Given the description of an element on the screen output the (x, y) to click on. 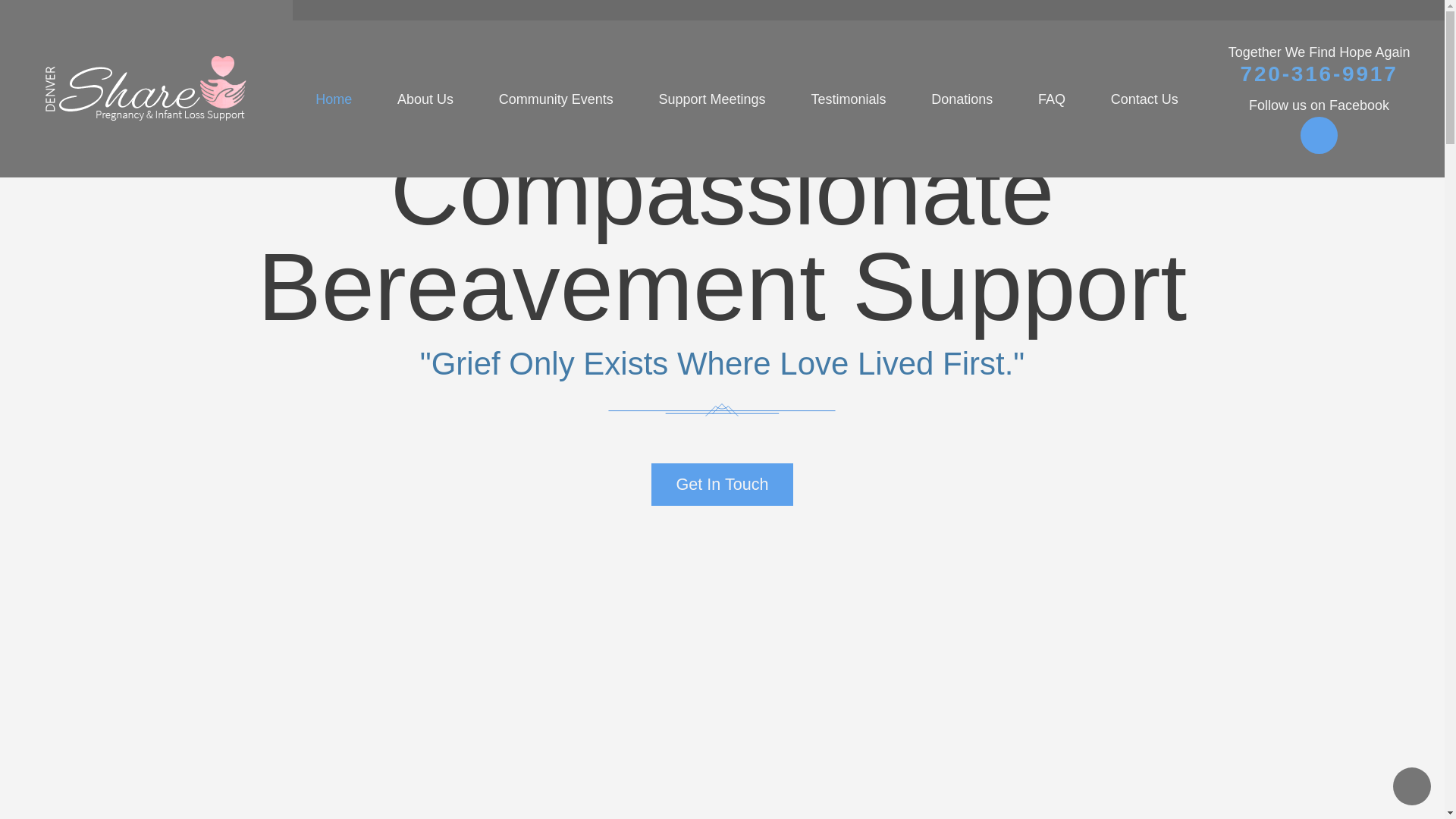
720-316-9917 (1318, 73)
Facebook (1319, 135)
Community Events (556, 98)
Denver Share (145, 88)
Get In Touch (721, 484)
Open the accessibility options menu (1412, 786)
Support Meetings (712, 98)
